Given the description of an element on the screen output the (x, y) to click on. 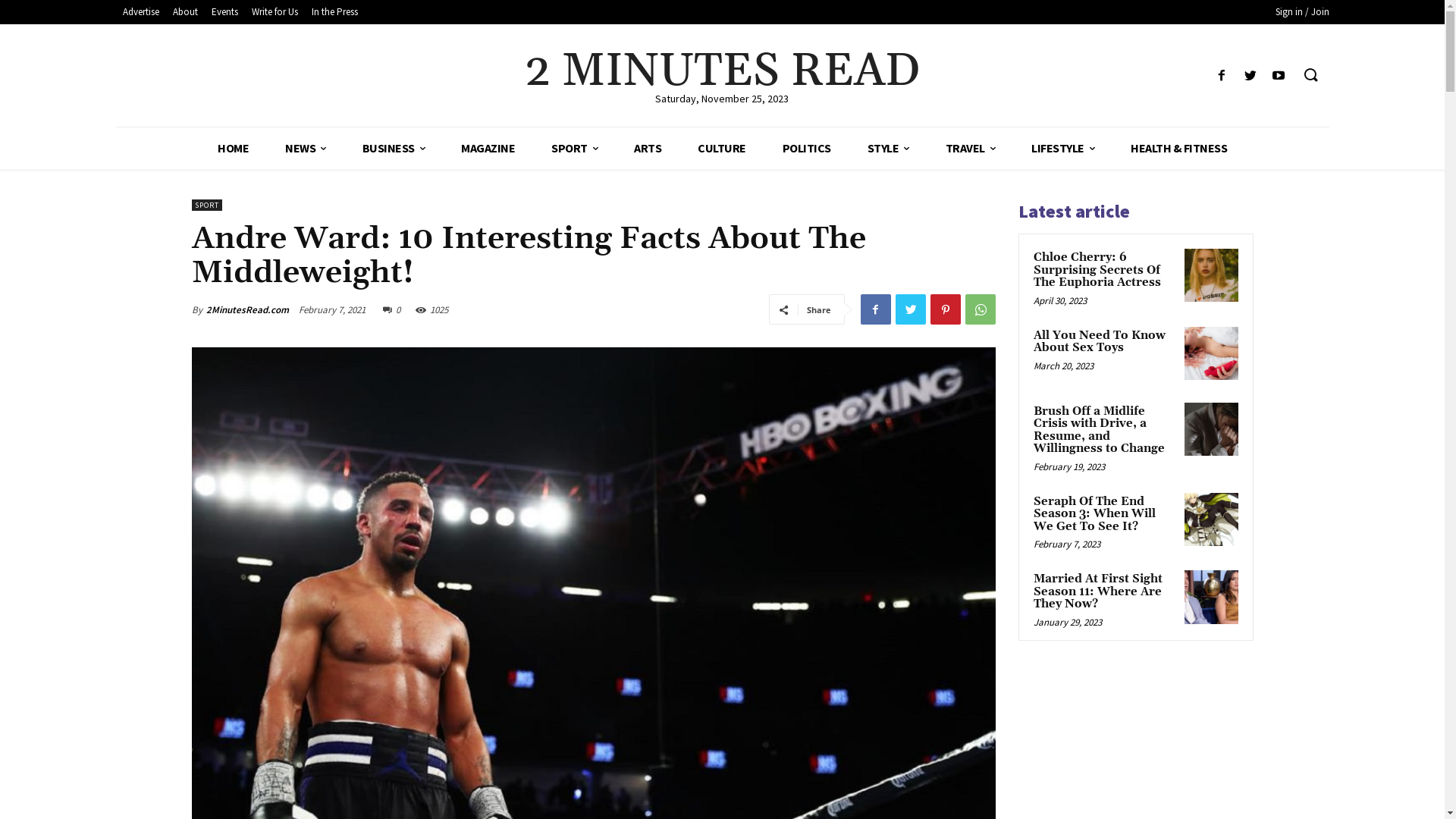
BUSINESS Element type: text (393, 148)
TRAVEL Element type: text (969, 148)
About Element type: text (184, 11)
SPORT Element type: text (574, 148)
2 MINUTES READ Element type: text (721, 72)
Chloe Cherry: 6 Surprising Secrets Of The Euphoria Actress Element type: text (1096, 269)
0 Element type: text (391, 308)
2MinutesRead.com Element type: text (247, 309)
STYLE Element type: text (888, 148)
Events Element type: text (224, 11)
Sign in / Join Element type: text (1302, 11)
HOME Element type: text (232, 148)
Seraph Of The End Season 3: When Will We Get To See It? Element type: hover (1210, 519)
MAGAZINE Element type: text (487, 148)
NEWS Element type: text (305, 148)
SPORT Element type: text (206, 204)
Write for Us Element type: text (274, 11)
Seraph Of The End Season 3: When Will We Get To See It? Element type: text (1093, 513)
All You Need To Know About Sex Toys Element type: text (1098, 341)
Advertise Element type: text (140, 11)
POLITICS Element type: text (806, 148)
CULTURE Element type: text (721, 148)
HEALTH & FITNESS Element type: text (1178, 148)
LIFESTYLE Element type: text (1062, 148)
Married At First Sight Season 11: Where Are They Now? Element type: text (1096, 591)
ARTS Element type: text (647, 148)
Married At First Sight Season 11: Where Are They Now? Element type: hover (1210, 596)
Chloe Cherry: 6 Surprising Secrets Of The Euphoria Actress Element type: hover (1210, 274)
All You Need To Know About Sex Toys Element type: hover (1210, 352)
In the Press Element type: text (334, 11)
